Given the description of an element on the screen output the (x, y) to click on. 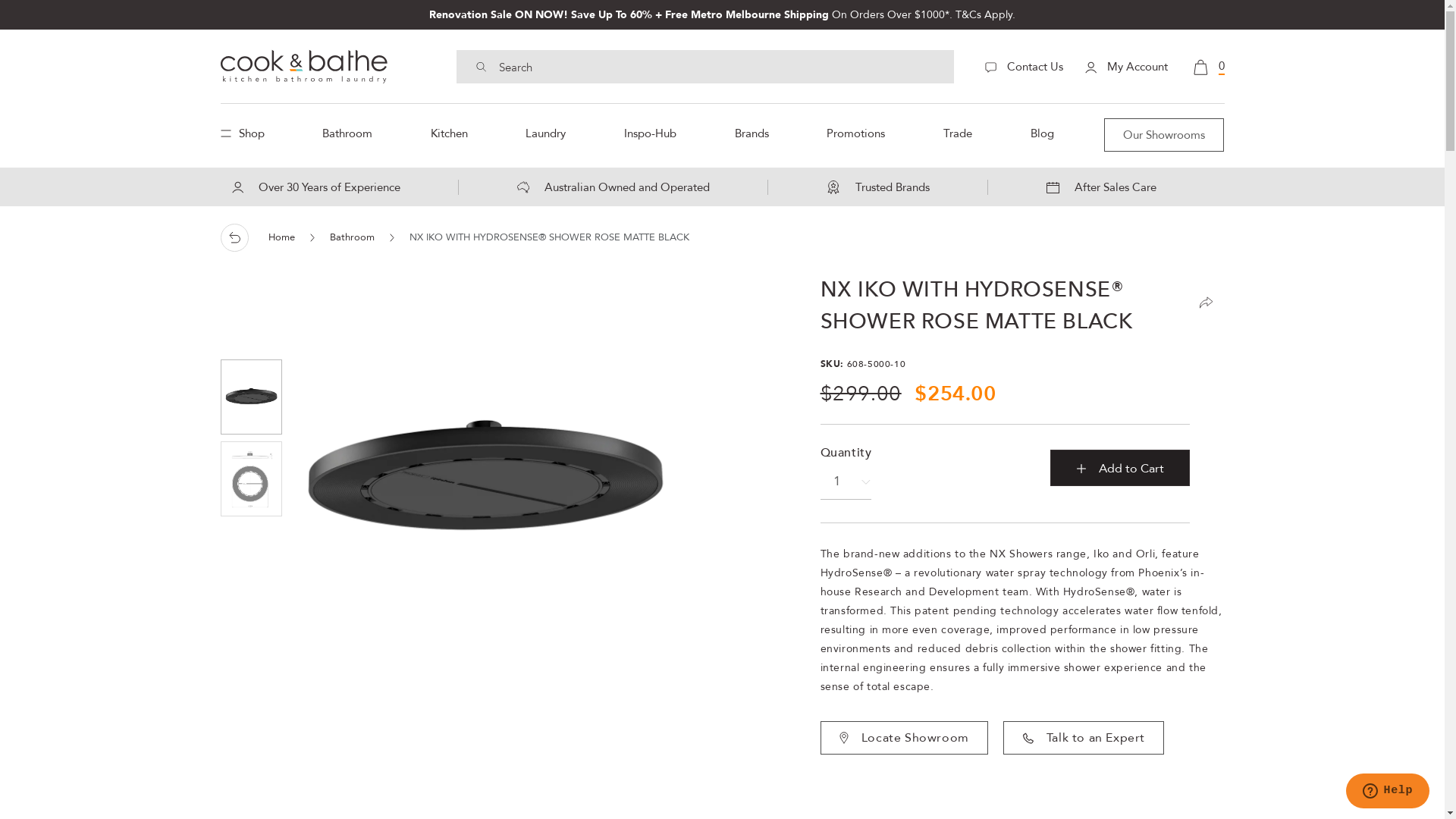
Laundry Element type: text (545, 133)
Contact Us Element type: text (1023, 66)
Brands Element type: text (751, 133)
Talk to an Expert Element type: text (1083, 737)
Blog Element type: text (1041, 133)
Our Showrooms Element type: text (1163, 134)
Bathroom Element type: text (351, 237)
Locate Showroom Element type: text (904, 737)
Inspo-Hub Element type: text (650, 133)
0 Element type: text (1208, 65)
Kitchen Element type: text (449, 133)
Shop Element type: text (245, 133)
Trade Element type: text (957, 133)
Opens a widget where you can chat to one of our agents Element type: hover (1387, 792)
My Account Element type: text (1125, 66)
Add to Cart Element type: text (1119, 467)
Bathroom Element type: text (346, 133)
Promotions Element type: text (855, 133)
Home Element type: text (281, 237)
